Given the description of an element on the screen output the (x, y) to click on. 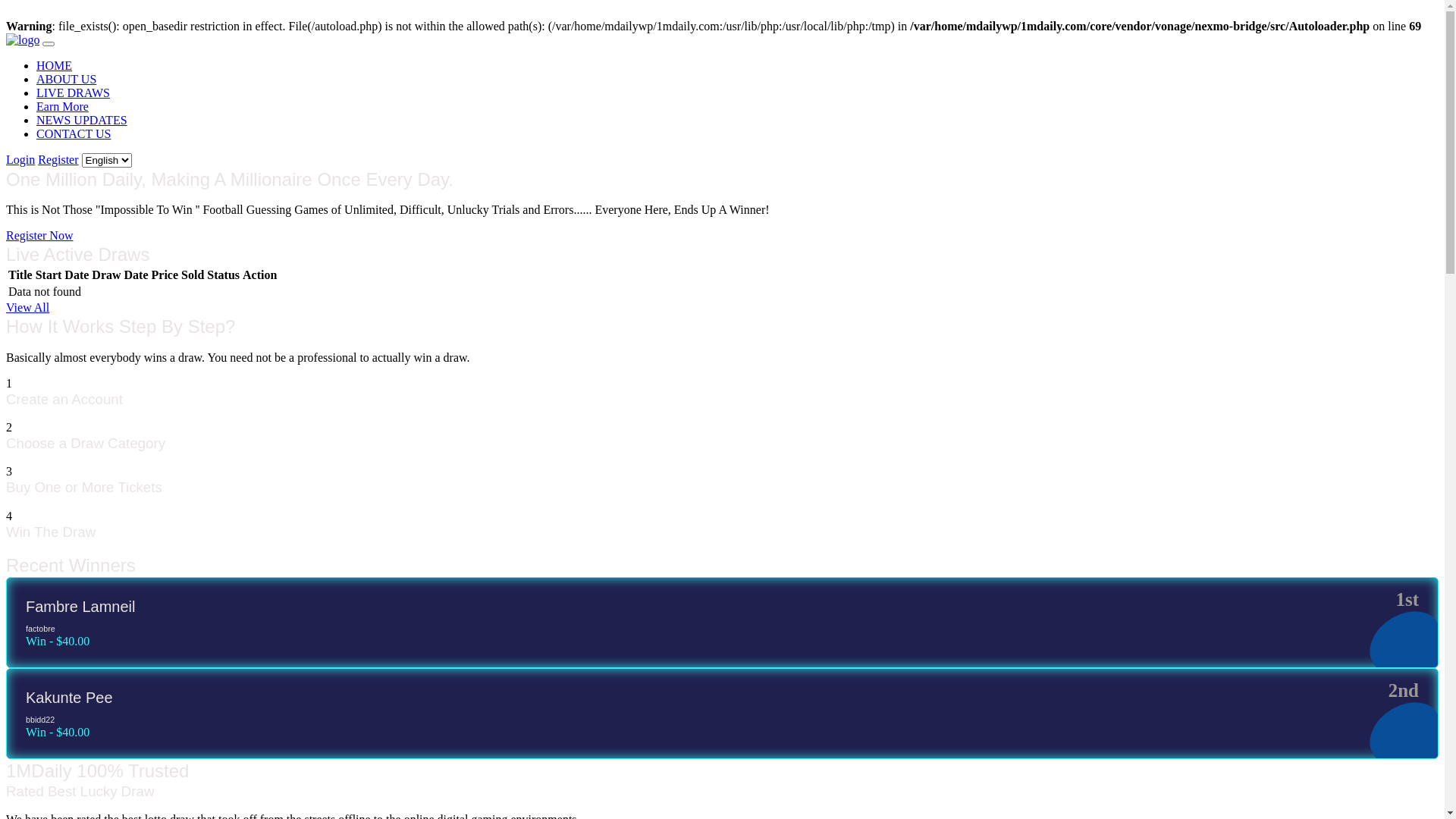
Register Now Element type: text (39, 235)
NEWS UPDATES Element type: text (81, 119)
Register Element type: text (57, 159)
CONTACT US Element type: text (73, 133)
ABOUT US Element type: text (66, 78)
HOME Element type: text (54, 65)
Login Element type: text (20, 159)
View All Element type: text (27, 307)
Earn More Element type: text (62, 106)
LIVE DRAWS Element type: text (72, 92)
